Given the description of an element on the screen output the (x, y) to click on. 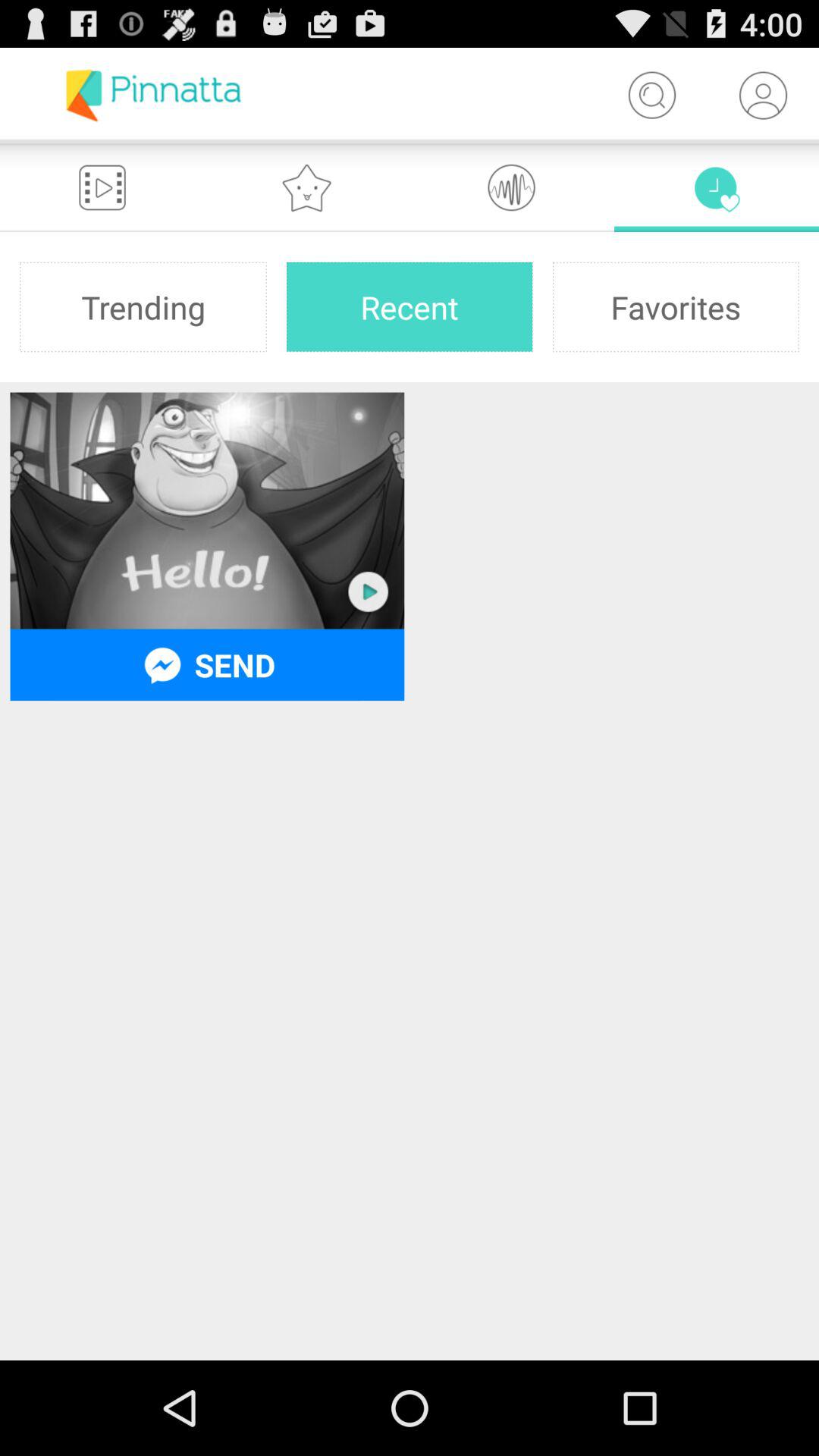
select the text pinnatta (153, 95)
click text below clock icon (675, 307)
select the second icon from top left (306, 186)
select the icon present right side the search tool (763, 95)
click on the icon which is to the right of star icon (511, 186)
click on the icon which is to the right from the pinnatta (651, 95)
